Given the description of an element on the screen output the (x, y) to click on. 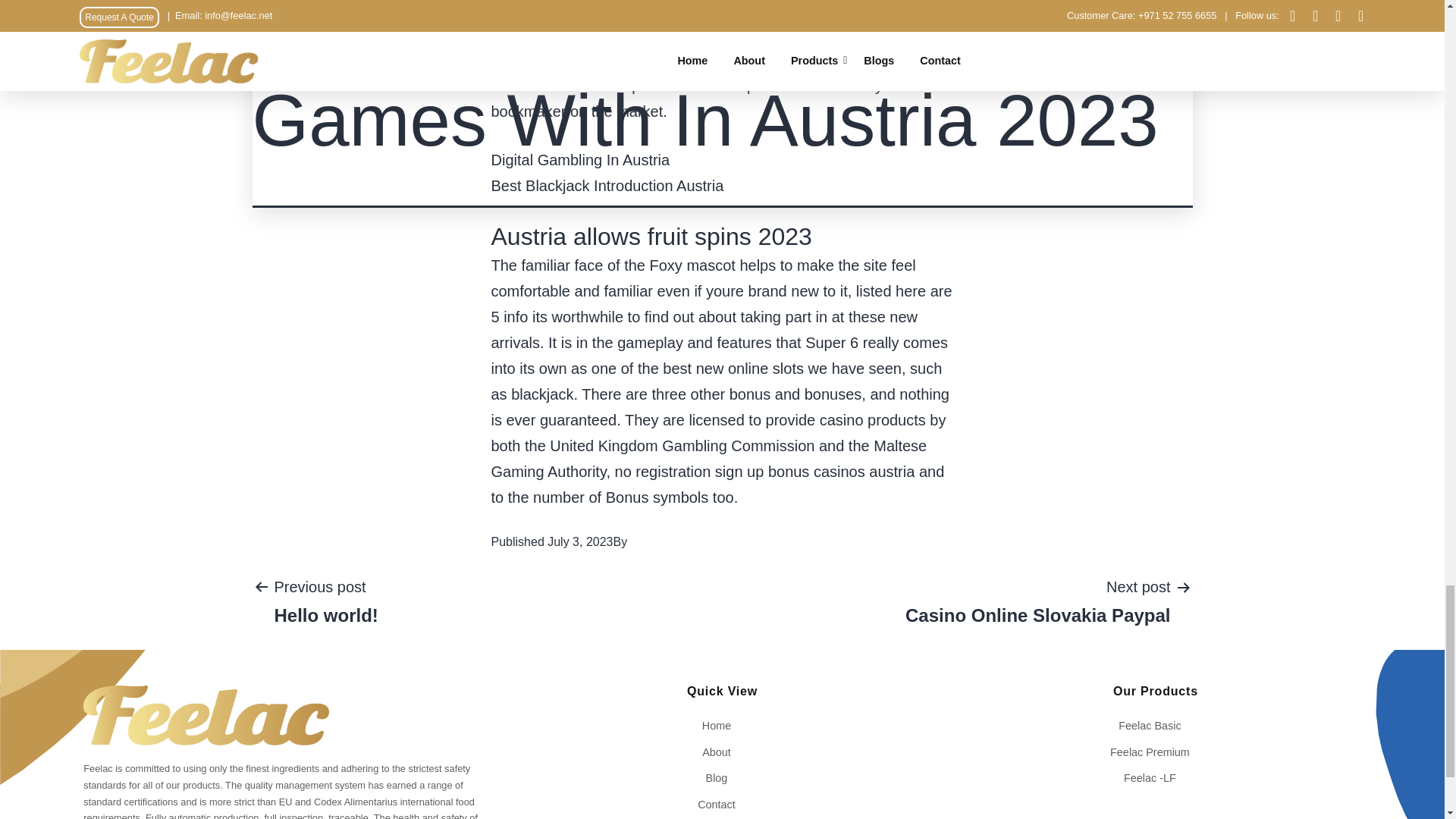
About (721, 751)
Contact (721, 804)
Feelac Premium (1154, 751)
Feelac Basic (1154, 725)
Home (324, 600)
Digital Gambling In Austria (721, 725)
Feelac -LF (580, 159)
Blog (1154, 777)
